Given the description of an element on the screen output the (x, y) to click on. 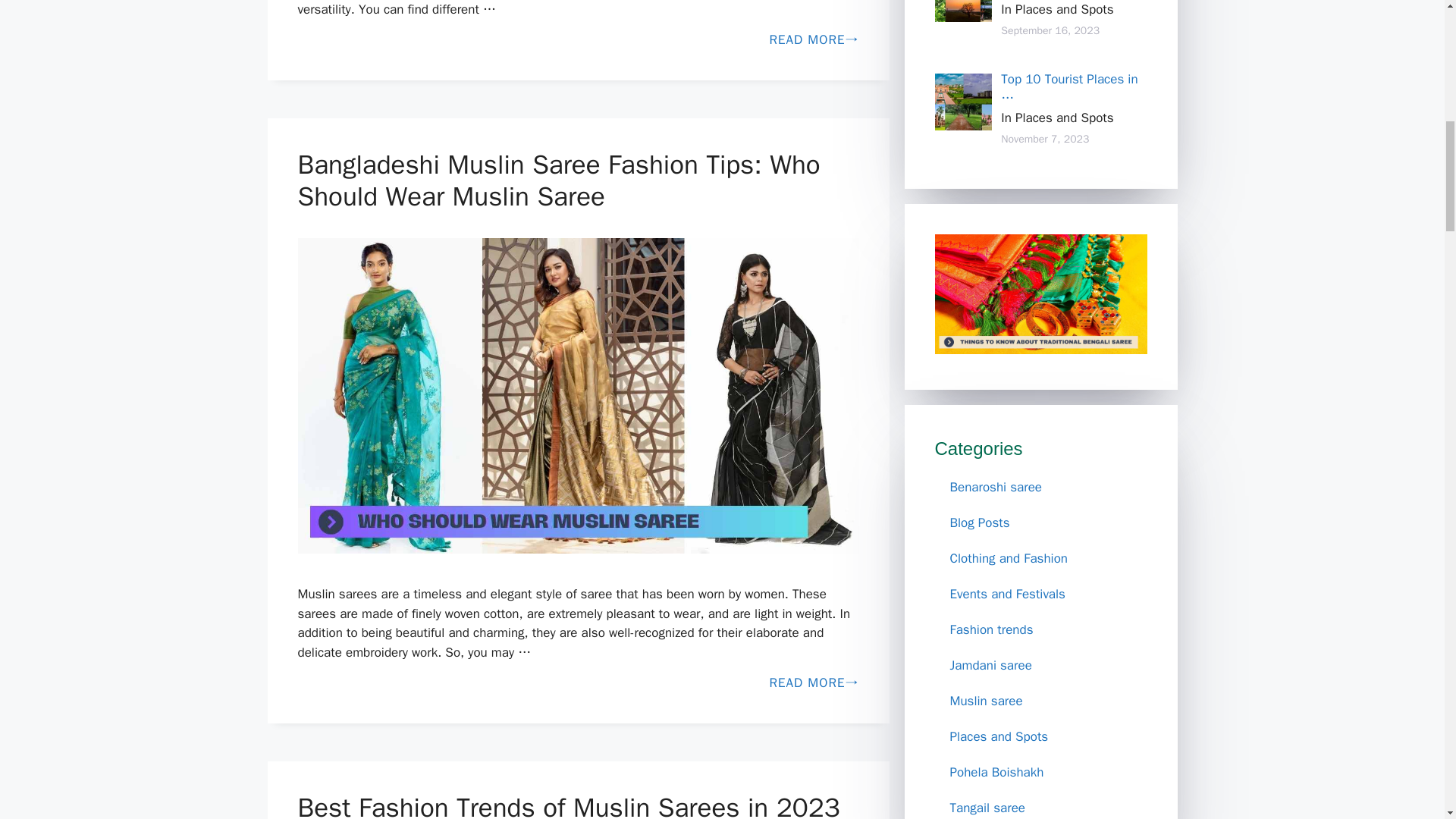
Best Fashion Trends of Muslin Sarees in 2023 (568, 805)
READ MORE (578, 682)
READ MORE (578, 39)
